Given the description of an element on the screen output the (x, y) to click on. 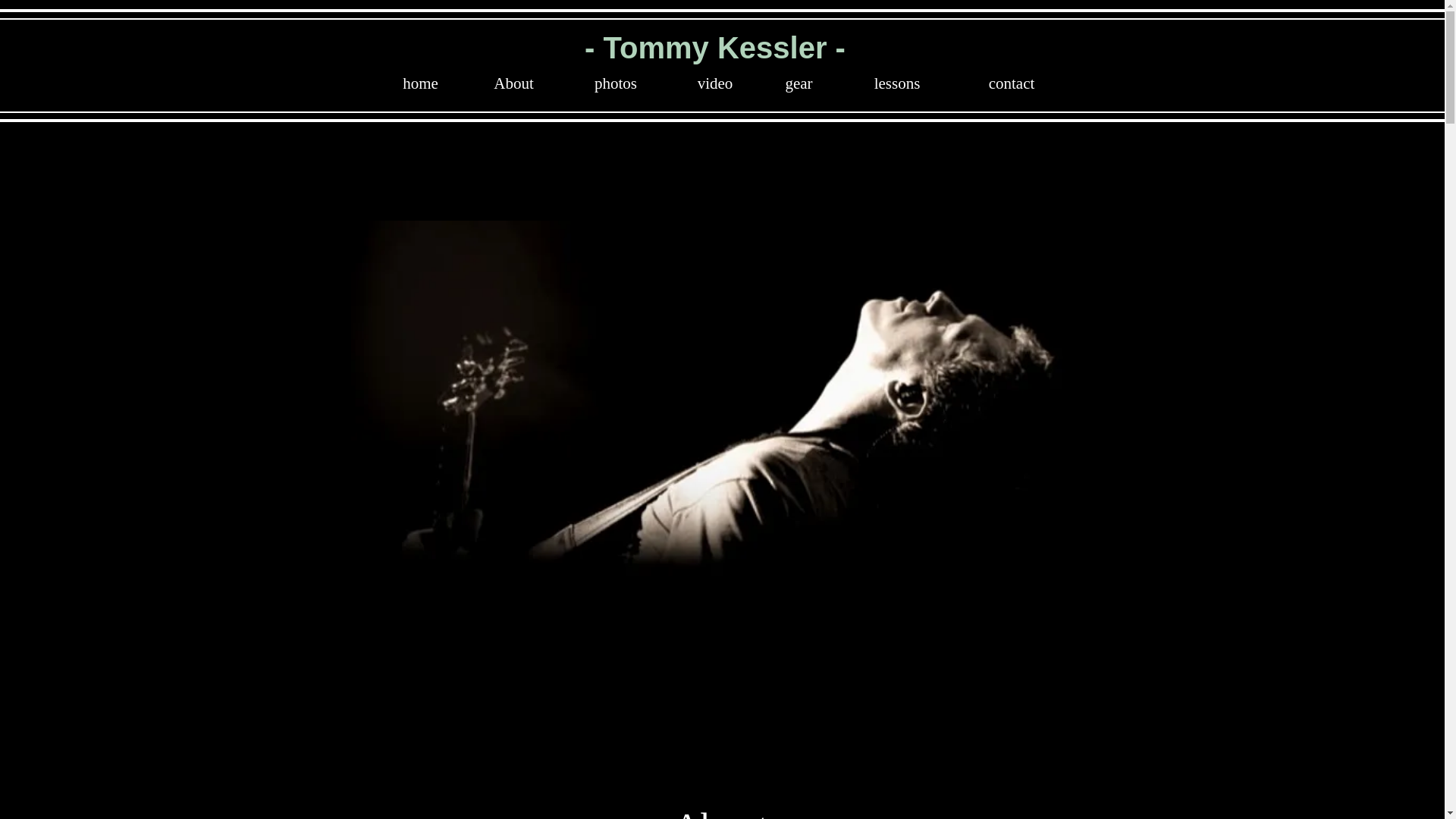
contact (1011, 83)
gear (799, 83)
- Tommy Kessler - (715, 47)
home (419, 83)
photos (614, 83)
About (513, 83)
lessons (896, 83)
video (714, 83)
